Given the description of an element on the screen output the (x, y) to click on. 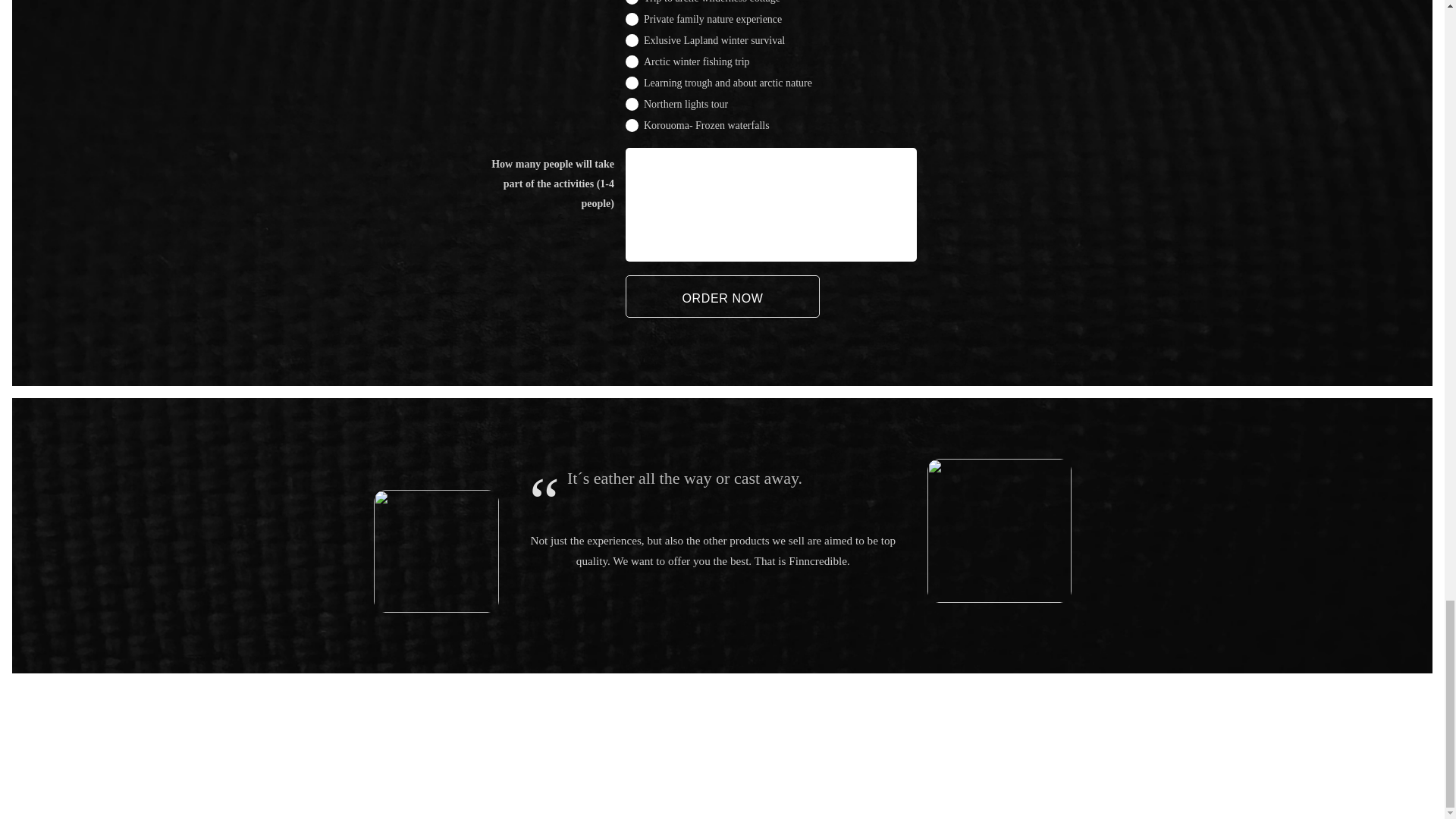
ORDER NOW (721, 296)
